Given the description of an element on the screen output the (x, y) to click on. 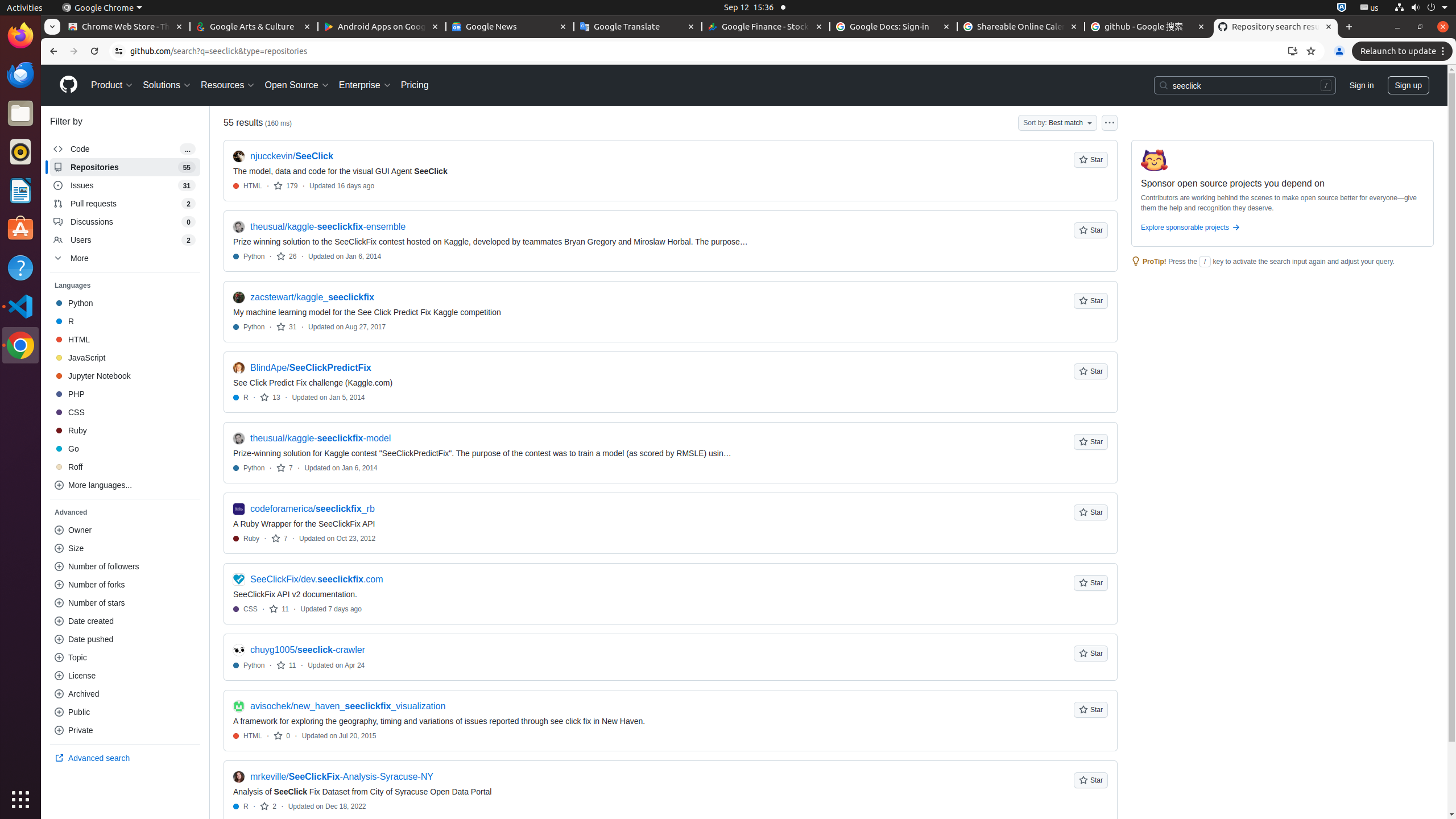
mrkeville/SeeClickFix-Analysis-Syracuse-NY Element type: link (341, 776)
‎Topic‎ Element type: push-button (125, 657)
‎Roff‎ Element type: link (125, 466)
Back Element type: push-button (51, 50)
:1.21/StatusNotifierItem Element type: menu (1369, 7)
